Given the description of an element on the screen output the (x, y) to click on. 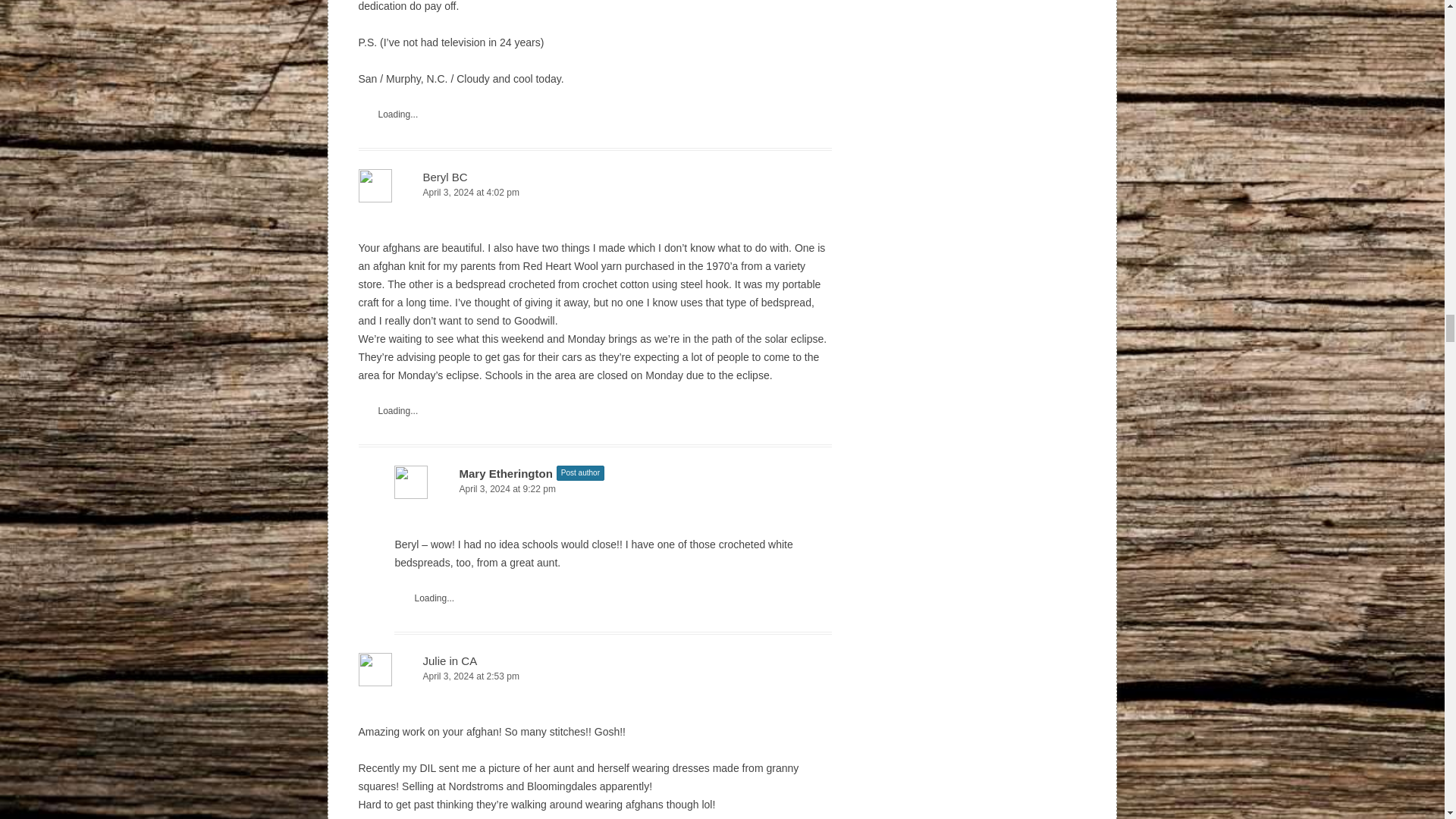
April 3, 2024 at 9:22 pm (612, 489)
April 3, 2024 at 4:02 pm (594, 192)
April 3, 2024 at 2:53 pm (594, 676)
